Given the description of an element on the screen output the (x, y) to click on. 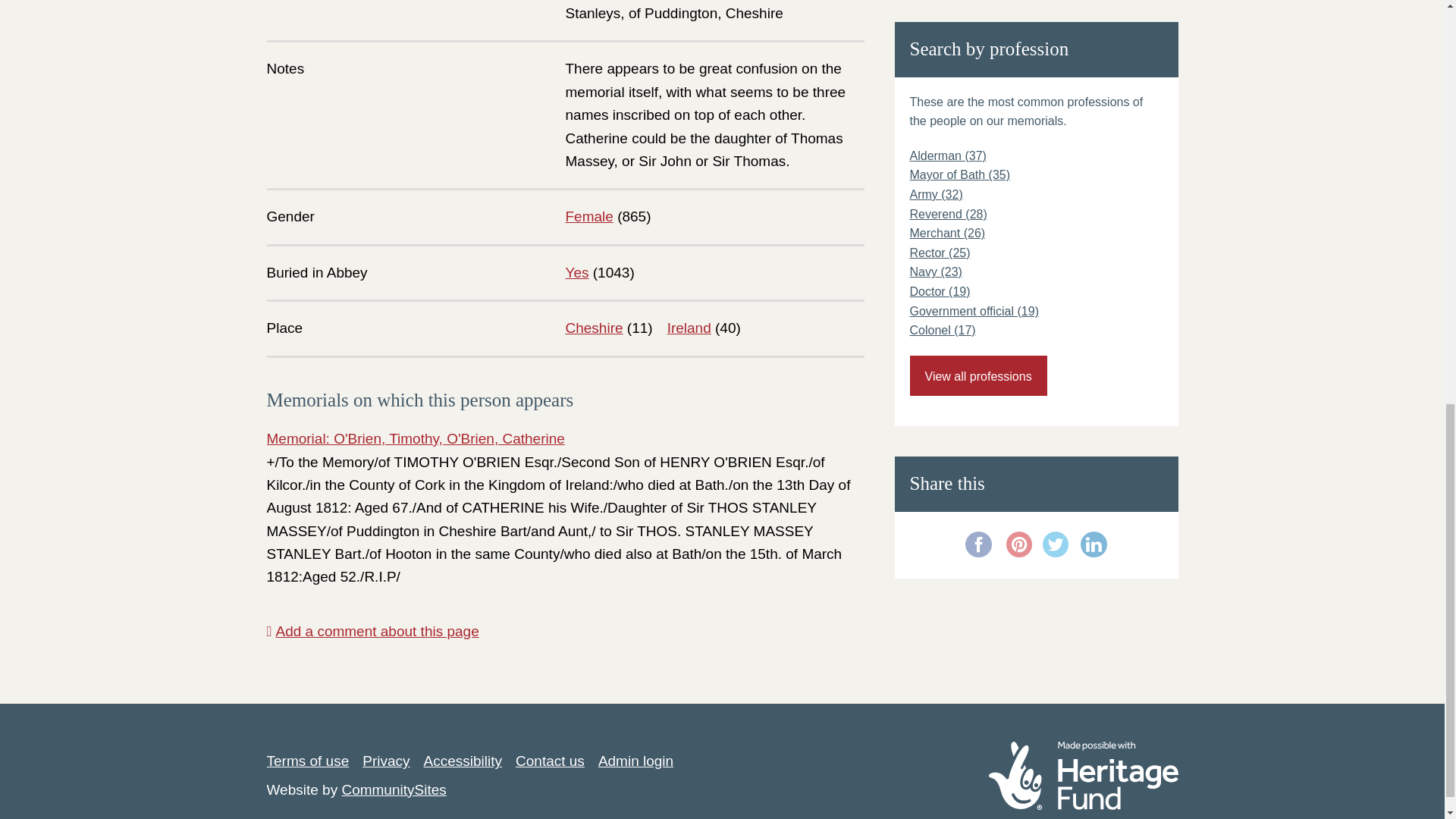
26 topics (947, 232)
19 topics (940, 291)
Cheshire (594, 327)
Memorial: O'Brien, Timothy, O'Brien, Catherine (415, 438)
25 topics (940, 252)
35 topics (960, 174)
19 topics (974, 310)
Ireland (688, 327)
28 topics (948, 214)
37 topics (948, 155)
Add a comment about this page (372, 630)
23 topics (936, 271)
17 topics (942, 329)
Female (589, 216)
Yes (577, 272)
